Given the description of an element on the screen output the (x, y) to click on. 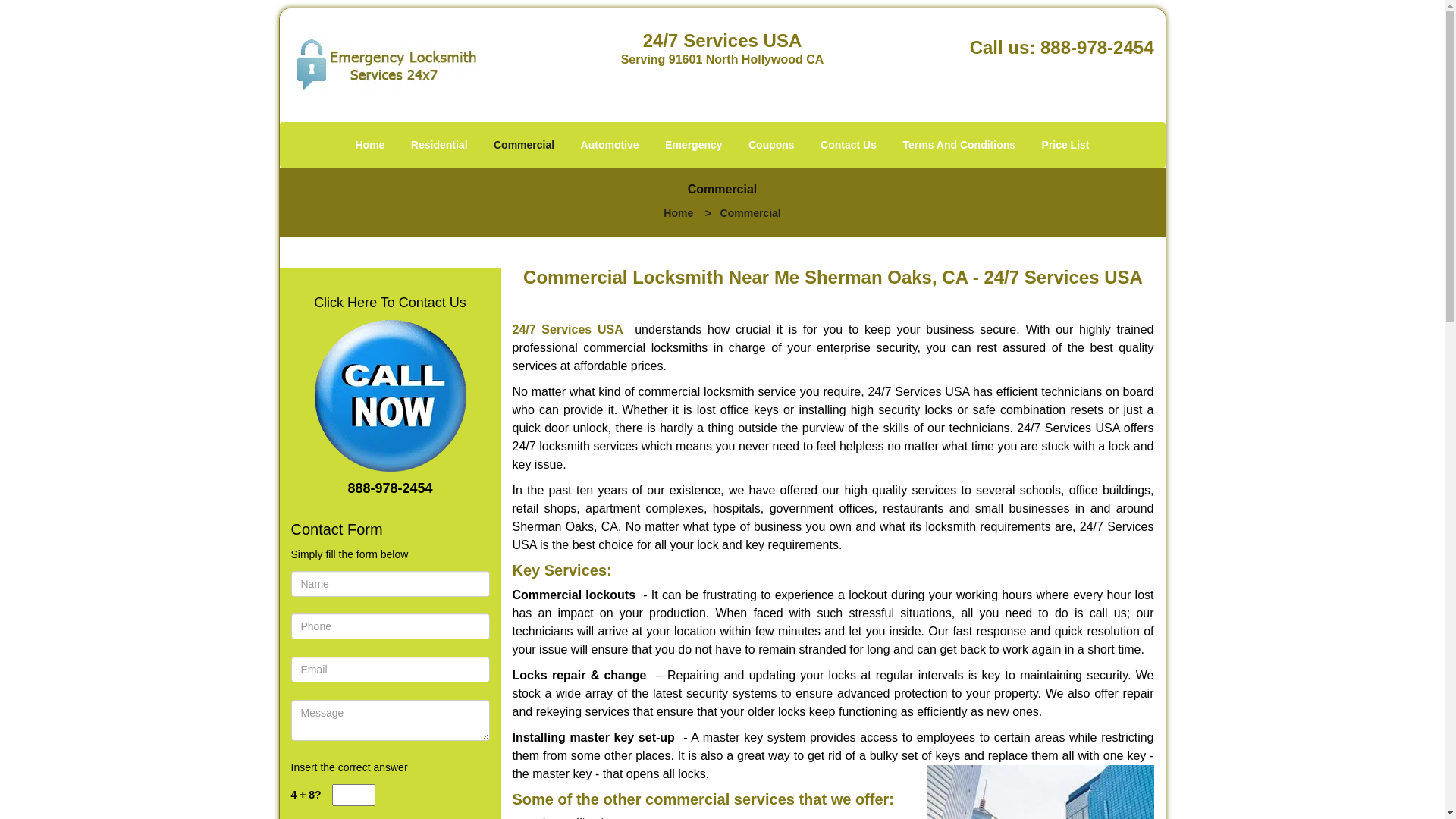
Price List Element type: text (1064, 144)
Residential Element type: text (439, 144)
Home Element type: text (369, 144)
24/7 Services USA Element type: text (567, 329)
Commercial Element type: text (523, 144)
Terms And Conditions Element type: text (958, 144)
Message Field require Element type: hover (390, 719)
Email Field required Element type: hover (390, 669)
888-978-2454 Element type: text (1096, 47)
Emergency Element type: text (693, 144)
Contact Us Element type: text (848, 144)
Name Field required Element type: hover (390, 583)
888-978-2454 Element type: text (389, 488)
Click Here To Contact Us Element type: text (389, 302)
Automotive Element type: text (609, 144)
Phone Field required Element type: hover (390, 626)
24/7 Services USA Sherman Oaks, CA 888-978-2454 Element type: hover (389, 395)
Coupons Element type: text (771, 144)
Home Element type: text (678, 213)
